Given the description of an element on the screen output the (x, y) to click on. 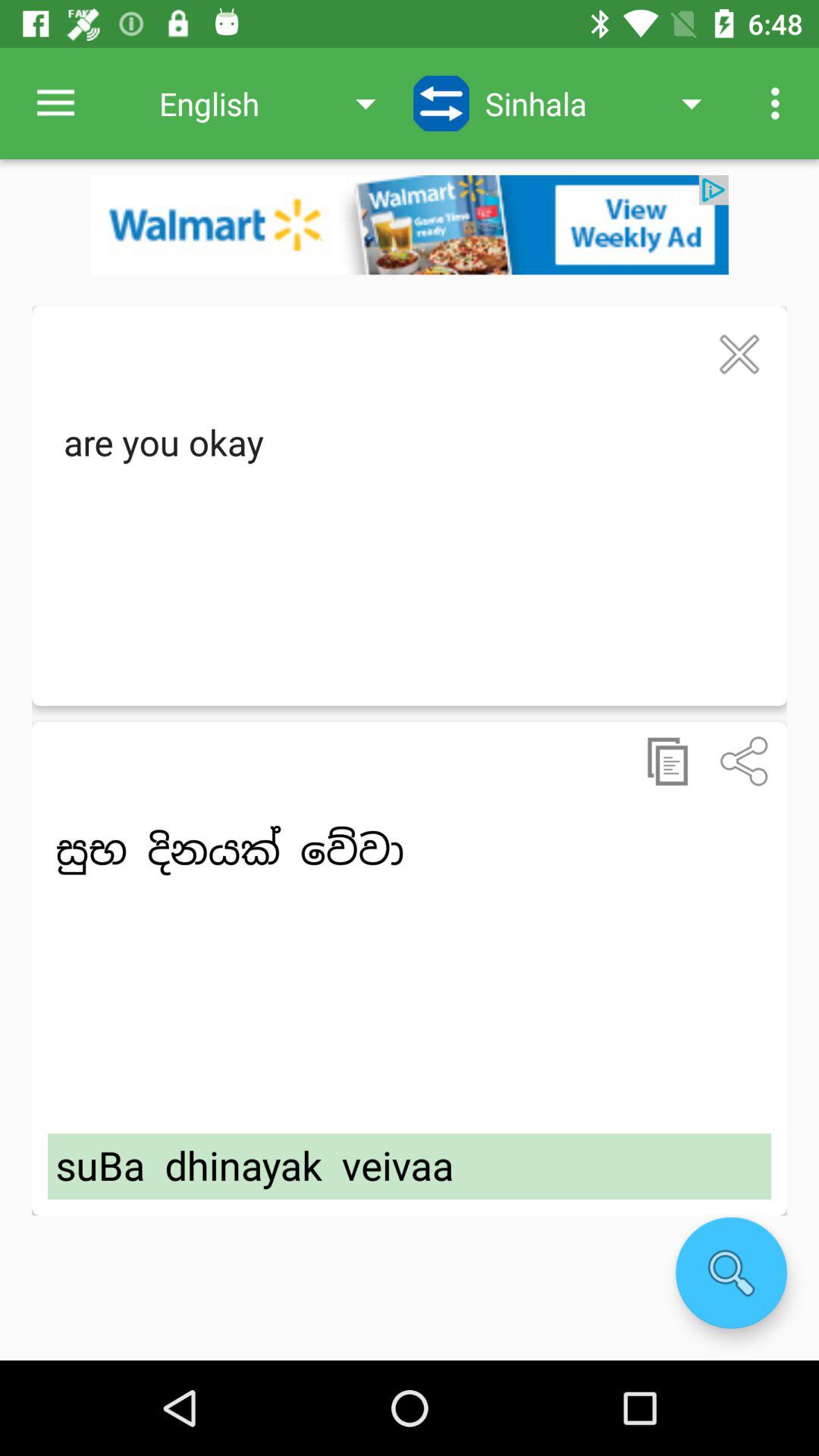
scroll until are you okay (409, 545)
